Given the description of an element on the screen output the (x, y) to click on. 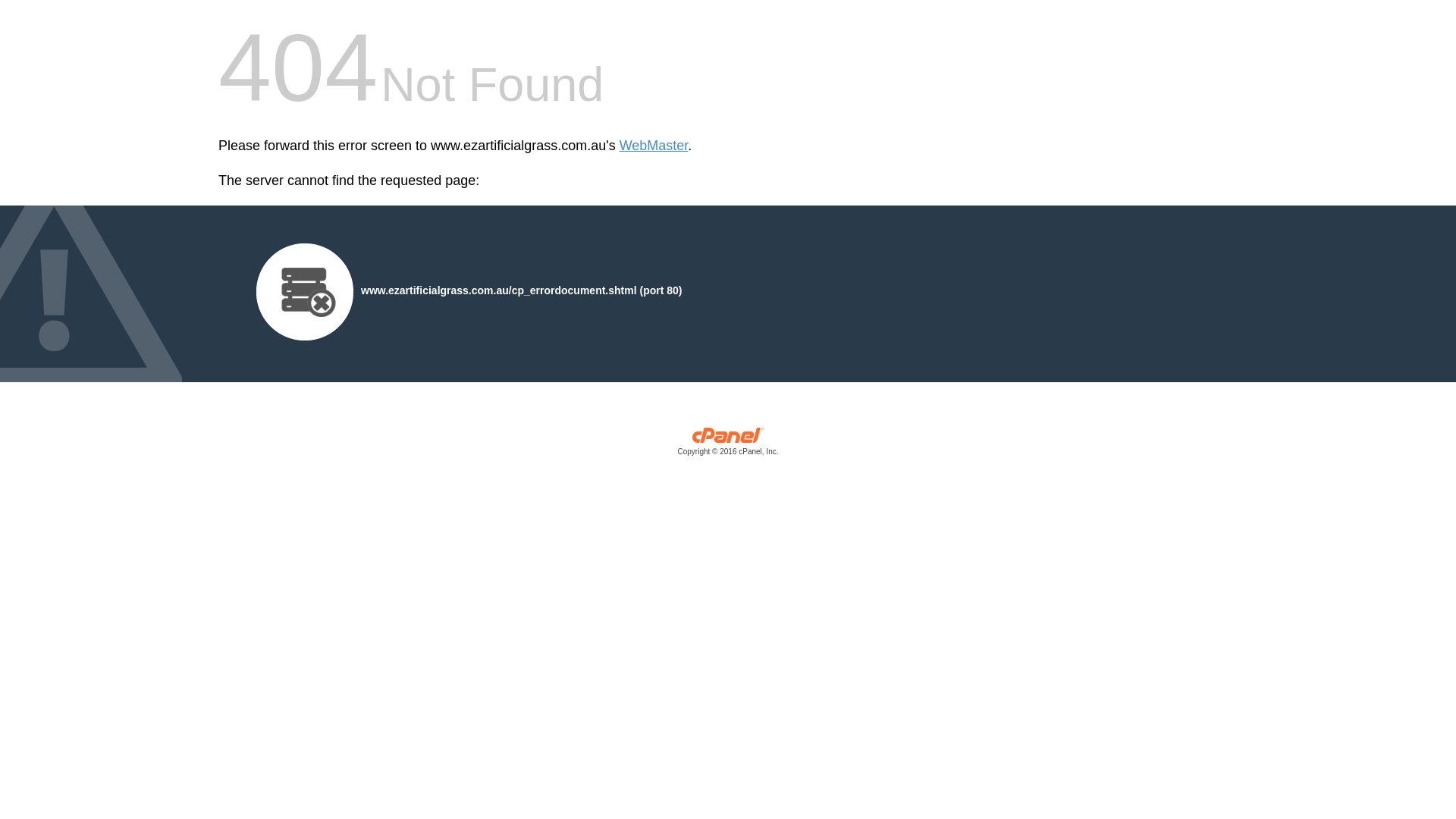
WebMaster Element type: text (653, 145)
